Given the description of an element on the screen output the (x, y) to click on. 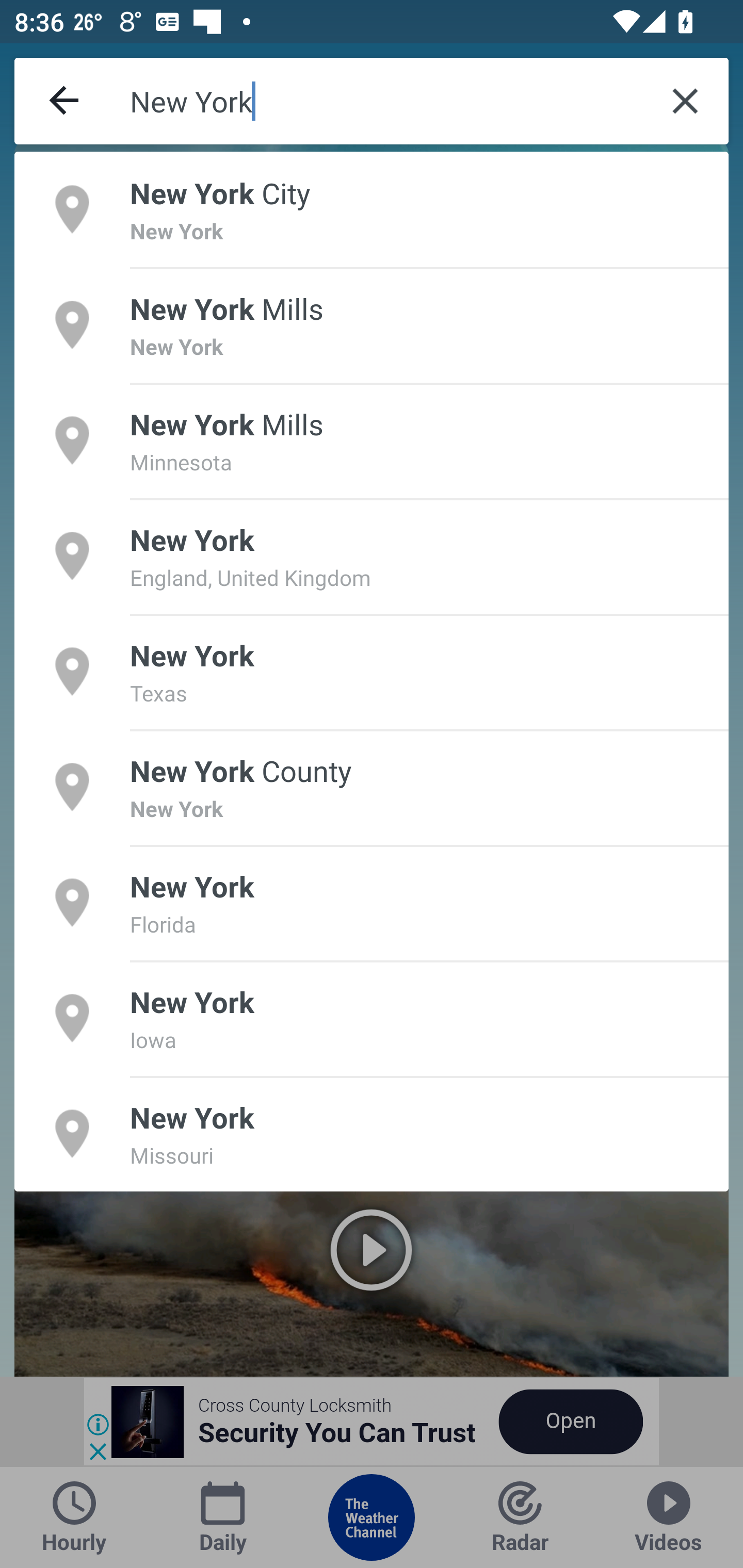
Back (64, 101)
Clear (684, 101)
New York (385, 100)
New York City New York (371, 209)
New York Mills New York (371, 324)
New York Mills Minnesota (371, 440)
New York England, United Kingdom (371, 555)
New York Texas (371, 671)
New York County New York (371, 787)
New York Florida (371, 902)
New York Iowa (371, 1017)
New York Missouri (371, 1133)
